Given the description of an element on the screen output the (x, y) to click on. 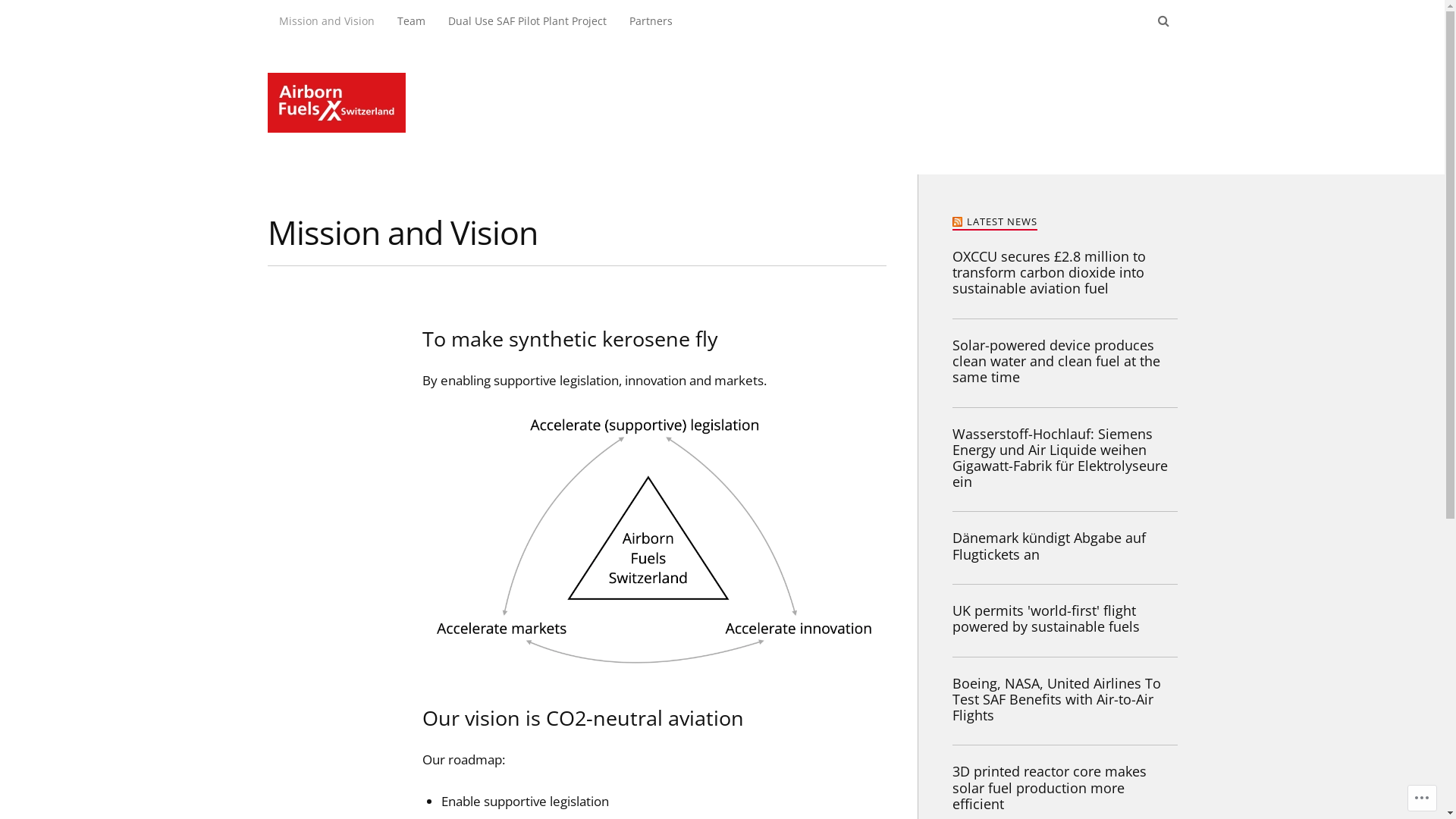
UK permits 'world-first' flight powered by sustainable fuels Element type: text (1064, 618)
Team Element type: text (410, 21)
Partners Element type: text (650, 21)
Dual Use SAF Pilot Plant Project Element type: text (527, 21)
Syndicate this content Element type: hover (957, 221)
Mission and Vision Element type: text (325, 21)
LATEST NEWS Element type: text (1001, 221)
